Given the description of an element on the screen output the (x, y) to click on. 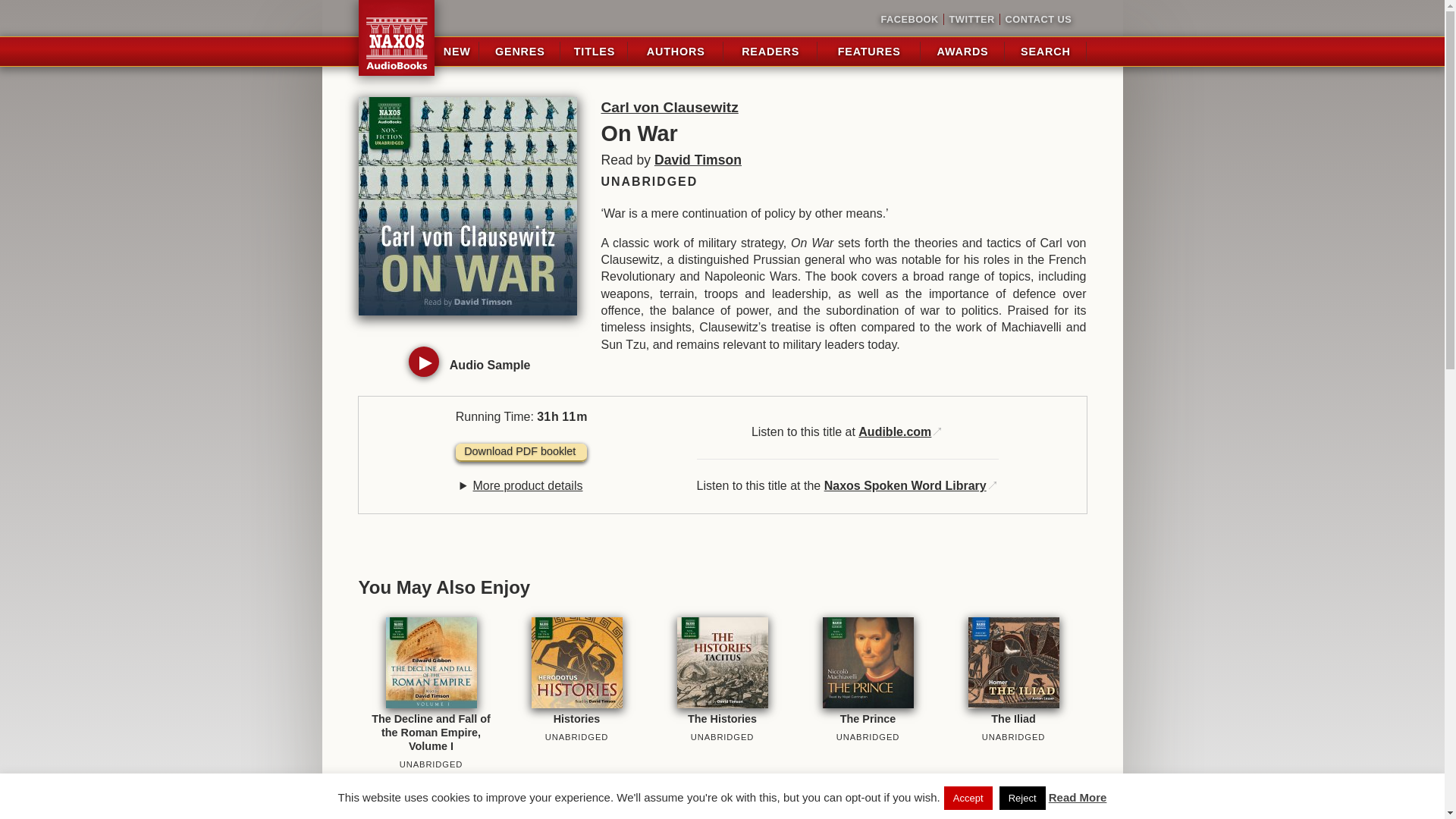
Download PDF booklet (520, 452)
AUTHORS (675, 51)
David Timson (697, 159)
GENRES (519, 51)
Naxos Spoken Word Library (905, 485)
READERS (770, 51)
SEARCH (1045, 51)
TITLES (593, 51)
Carl von Clausewitz (668, 107)
NEW (457, 51)
Audible.com (895, 431)
HOME (395, 38)
Listen at Audible.com (895, 431)
FEATURES (869, 51)
FACEBOOK (909, 19)
